Given the description of an element on the screen output the (x, y) to click on. 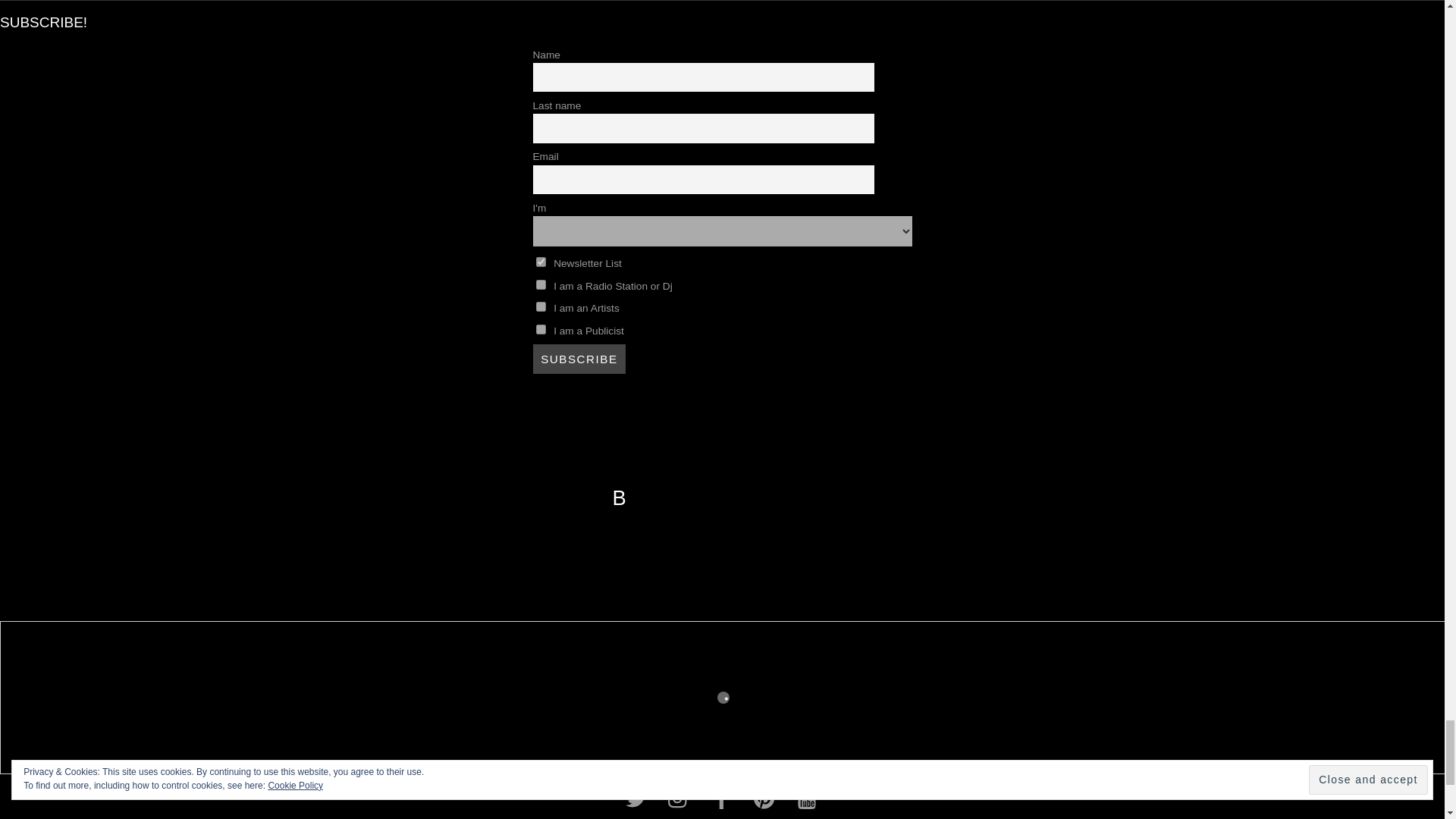
3 (539, 284)
Subscribe (579, 358)
9 (539, 307)
10 (539, 329)
1 (539, 261)
